Given the description of an element on the screen output the (x, y) to click on. 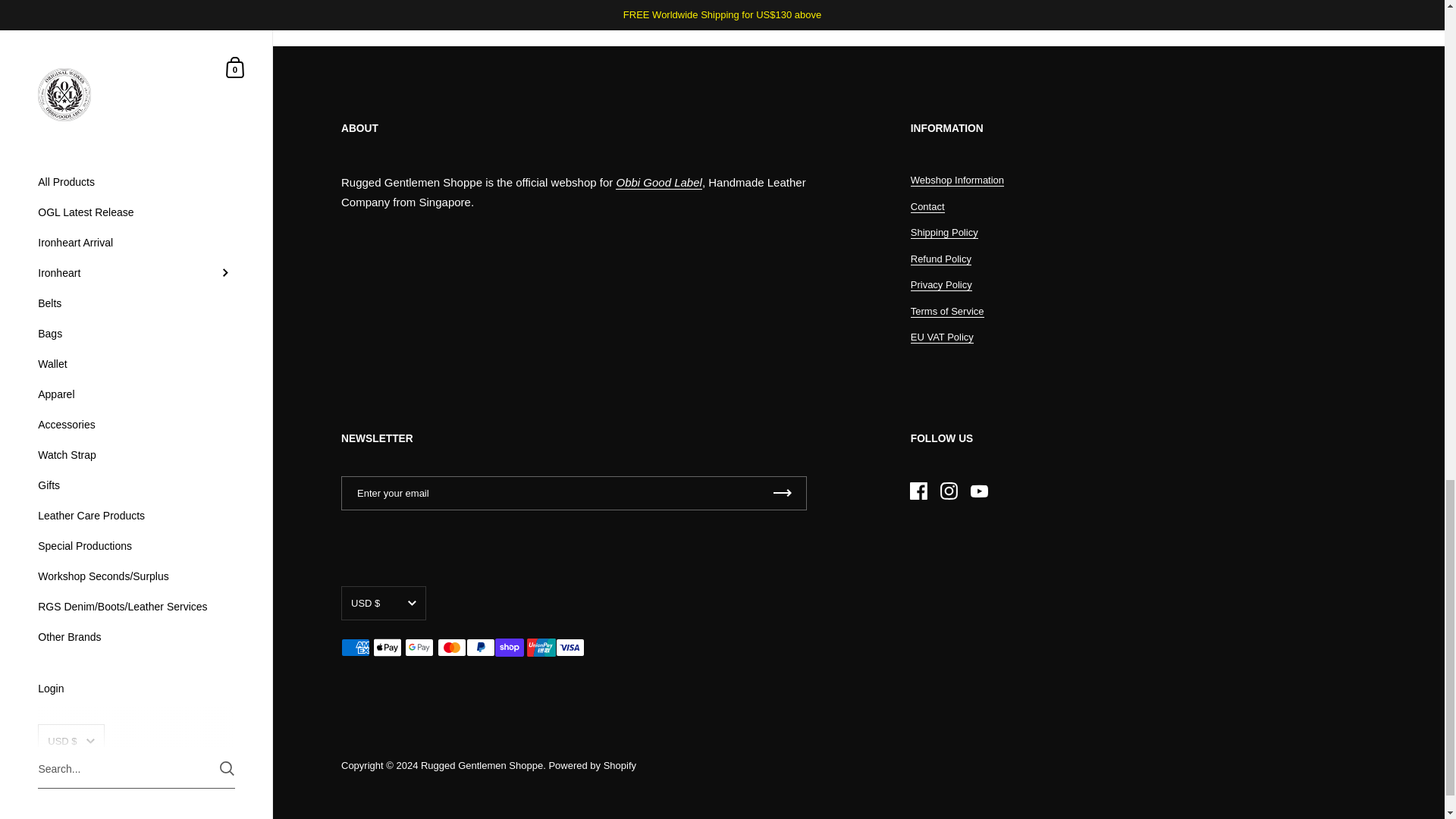
American Express (354, 647)
Google Pay (418, 647)
Shop Pay (509, 647)
Mastercard (451, 647)
Apple Pay (386, 647)
PayPal (480, 647)
